Given the description of an element on the screen output the (x, y) to click on. 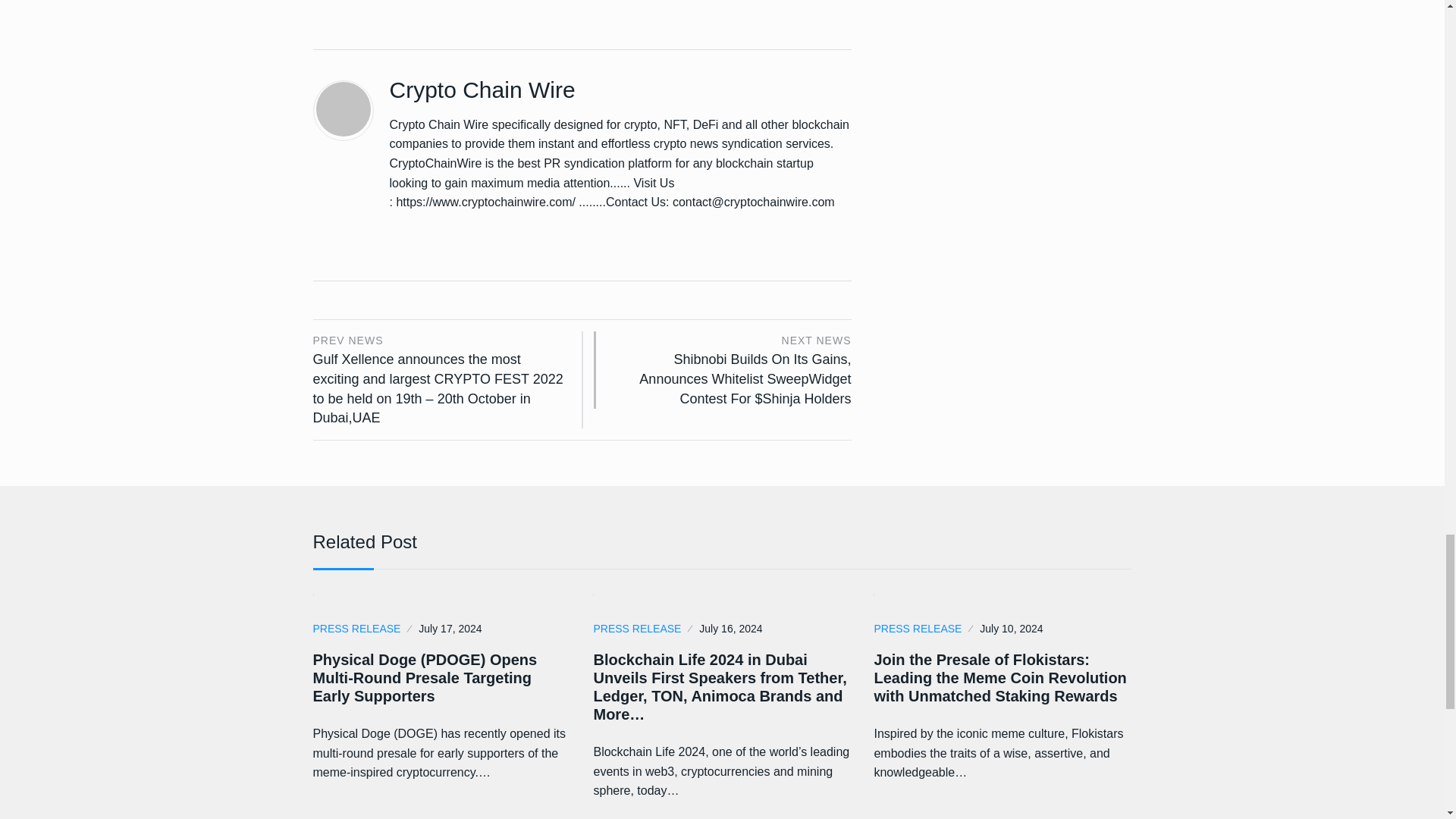
Crypto Chain Wire (482, 89)
